Given the description of an element on the screen output the (x, y) to click on. 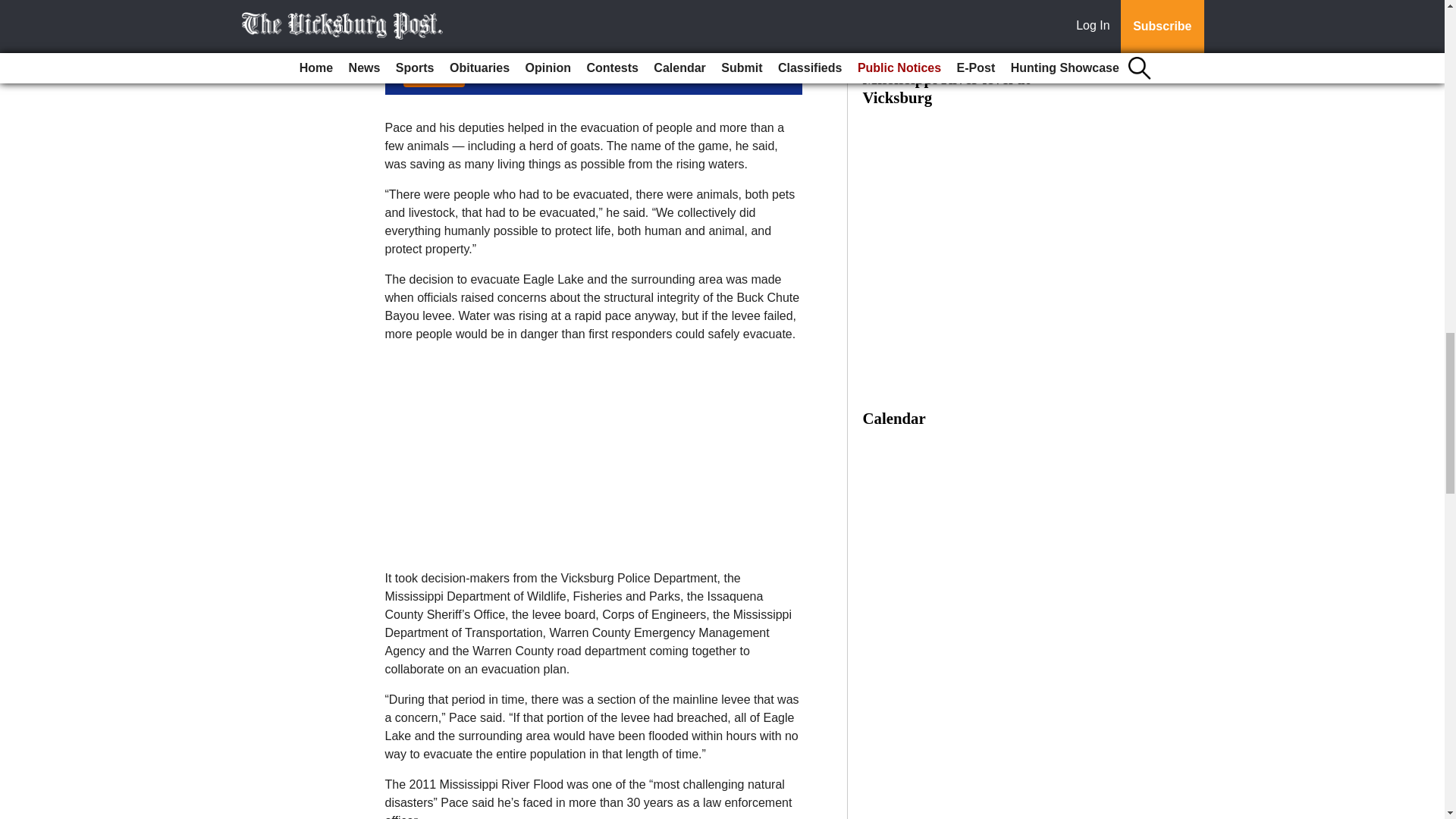
2 (472, 37)
1 (472, 22)
Subscribe (434, 77)
Subscribe (434, 77)
